Given the description of an element on the screen output the (x, y) to click on. 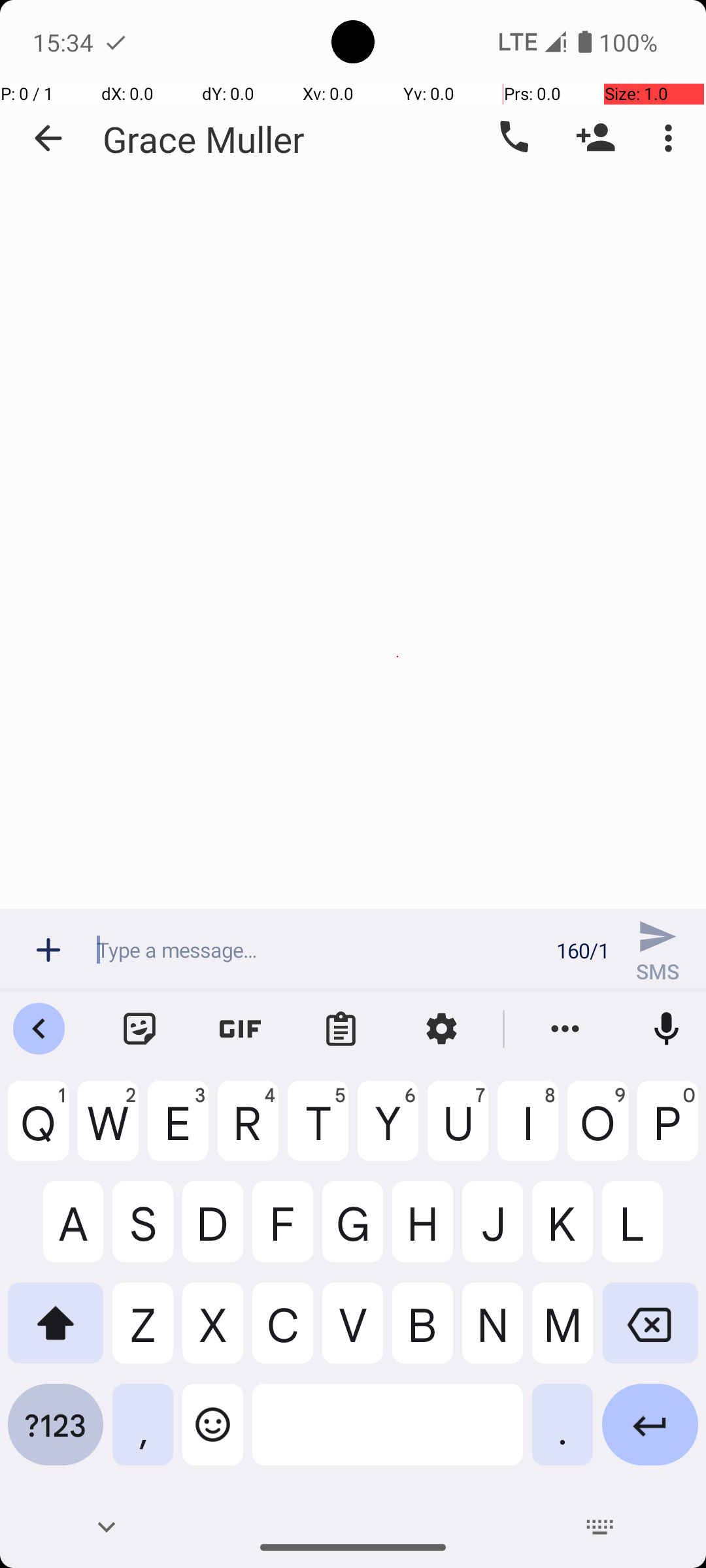
Grace Muller Element type: android.widget.TextView (203, 138)
